Given the description of an element on the screen output the (x, y) to click on. 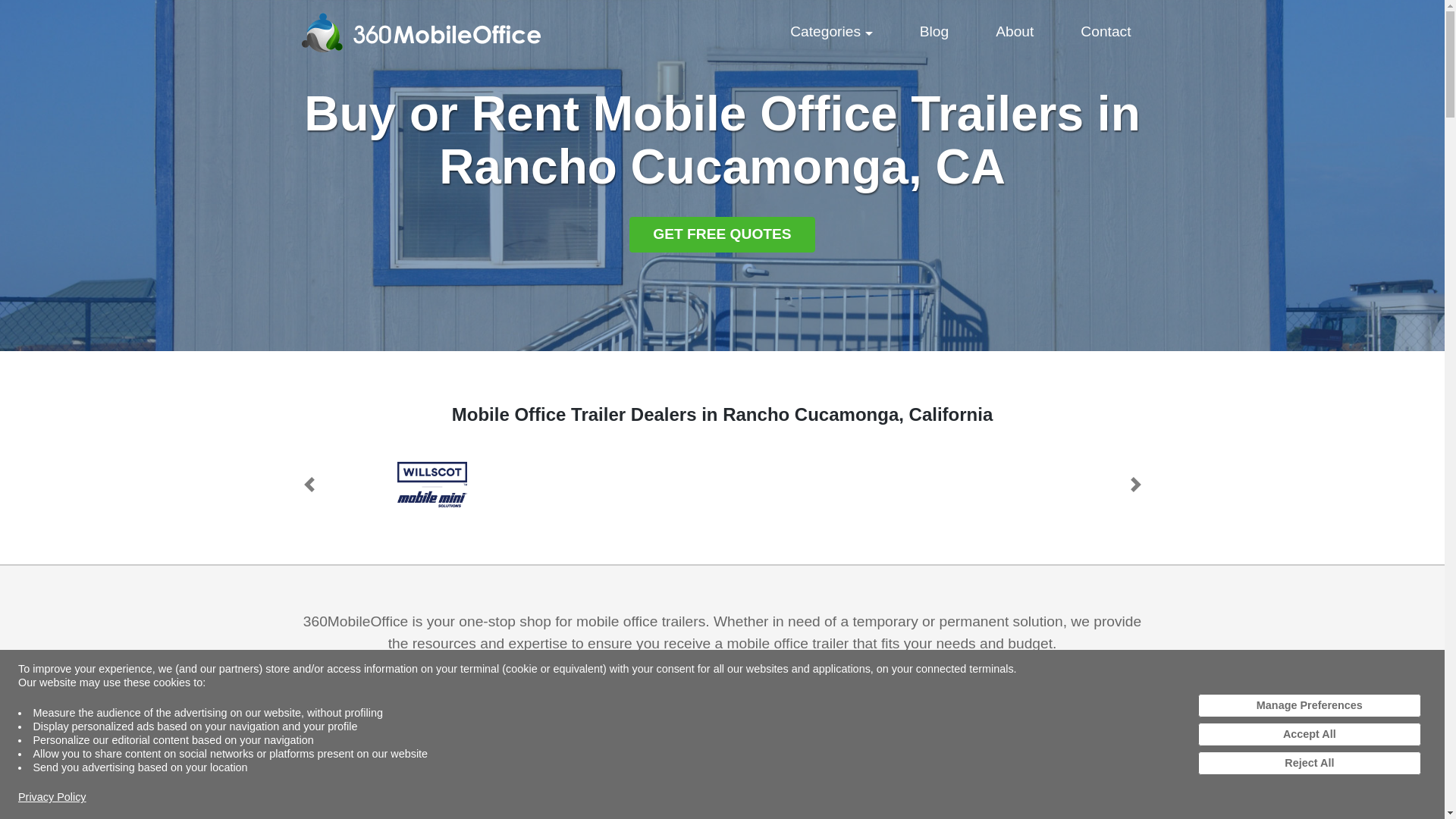
Blog (1105, 32)
Blog (1014, 32)
WillScot Mobile Mini Profile (432, 484)
Categories (831, 32)
Reject All (1309, 762)
Blog (933, 32)
Accept All (1309, 734)
Manage Preferences (1309, 705)
Privacy Policy (51, 796)
Categories (831, 32)
